Given the description of an element on the screen output the (x, y) to click on. 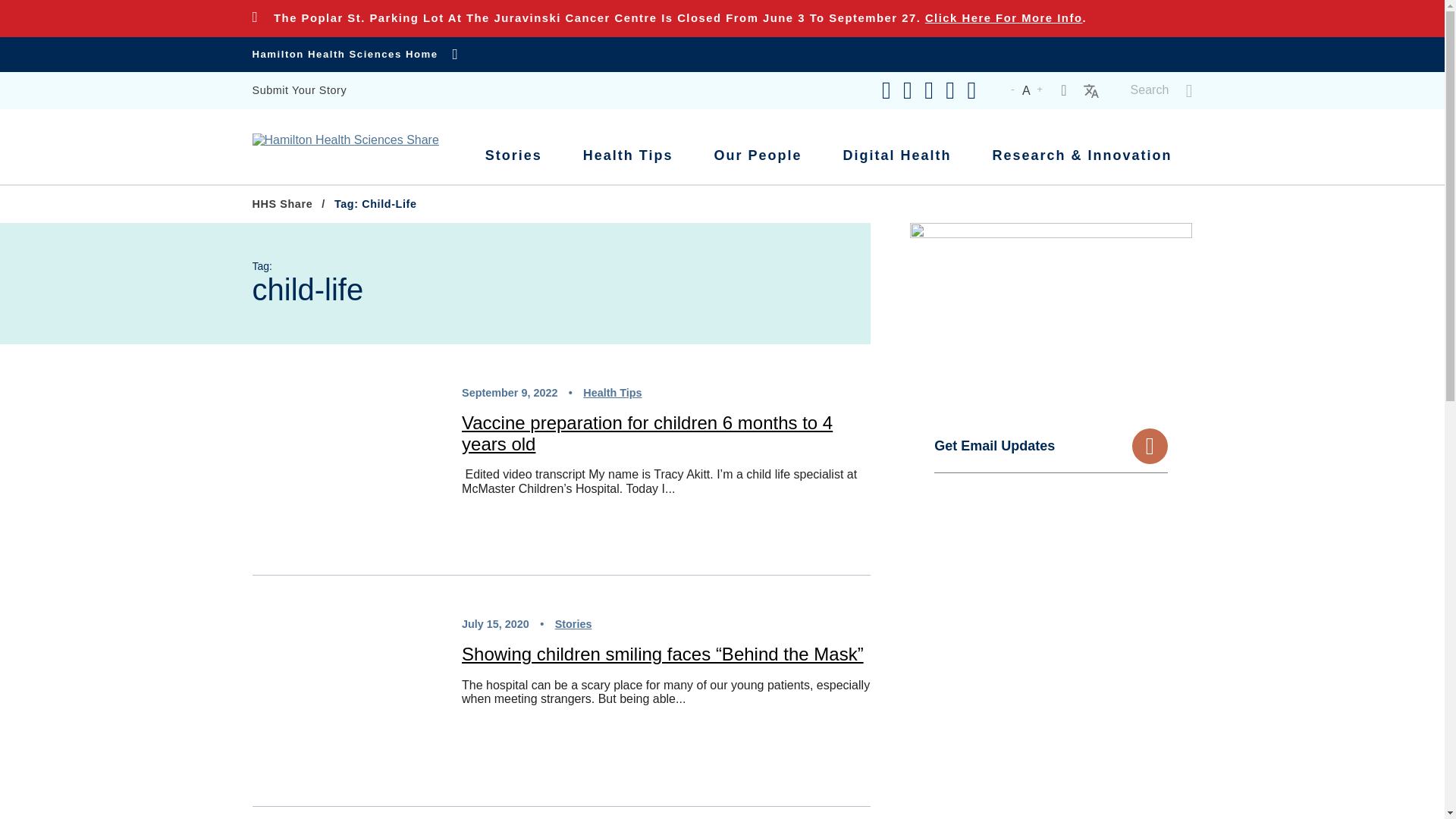
Click Here For More Info (1003, 17)
Hamilton Health Sciences Home (354, 54)
Search (1161, 90)
Health Tips (628, 155)
Submit Your Story (298, 90)
Our People (757, 155)
Digital Health (896, 155)
HHS Share (282, 204)
Stories (513, 155)
Translate (1090, 90)
